Given the description of an element on the screen output the (x, y) to click on. 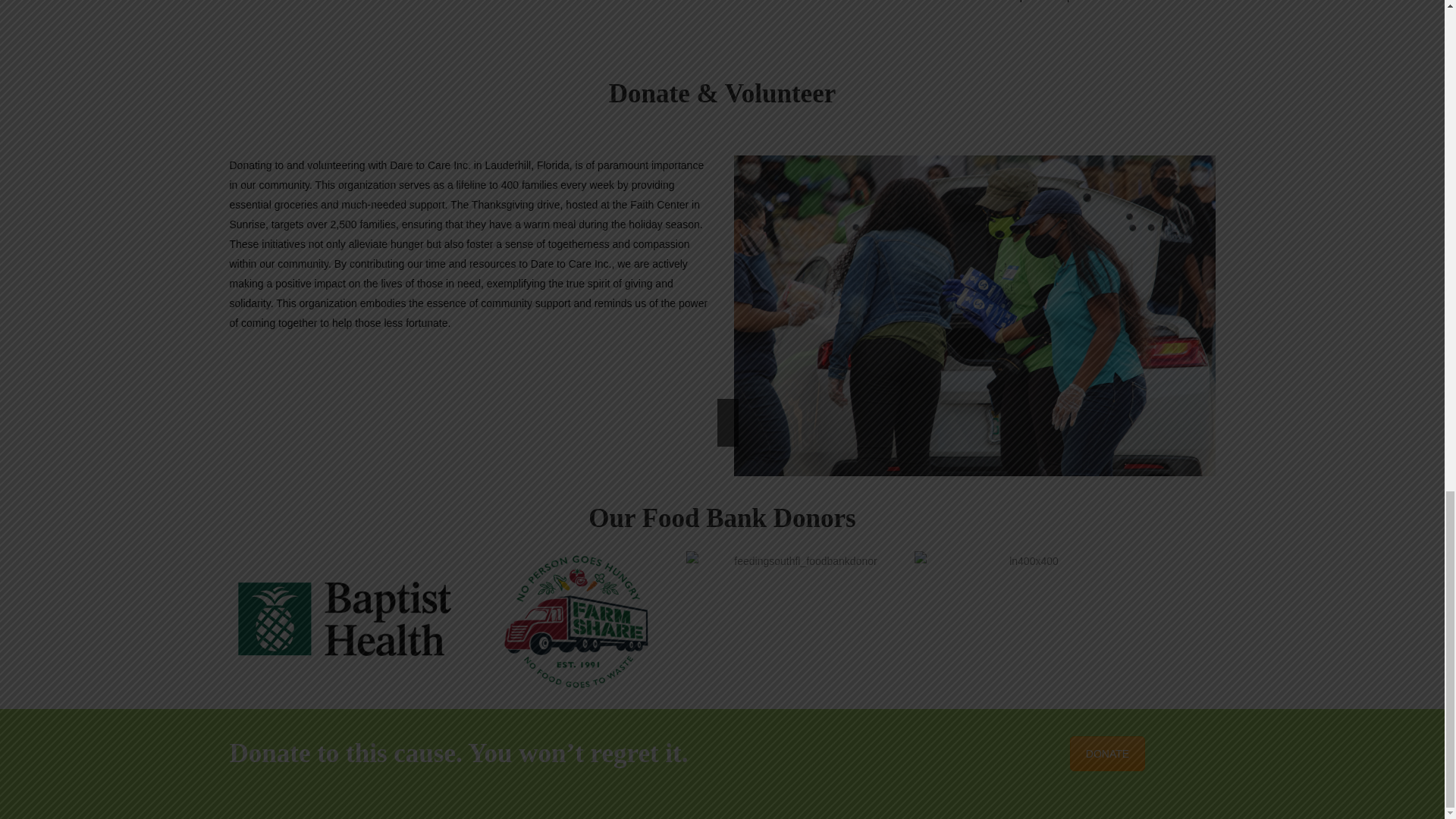
DONATE (1107, 753)
BAPTIST HEALTH (342, 621)
ln400x400 (1027, 621)
